Given the description of an element on the screen output the (x, y) to click on. 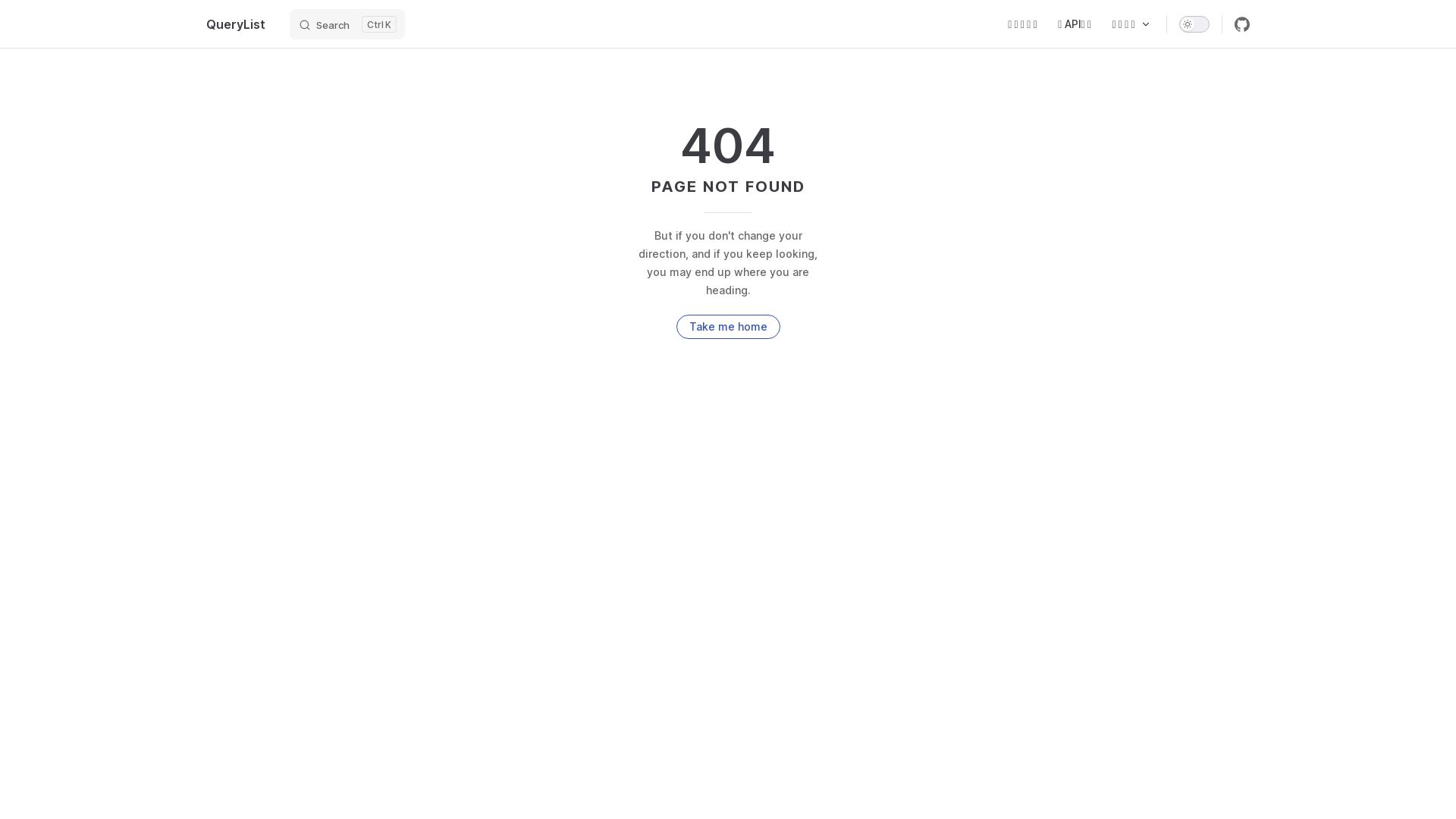
QueryList Element type: text (235, 24)
Take me home Element type: text (728, 326)
toggle dark mode Element type: hover (1194, 23)
Search
K Element type: text (346, 24)
Skip to content Element type: text (24, 16)
